Given the description of an element on the screen output the (x, y) to click on. 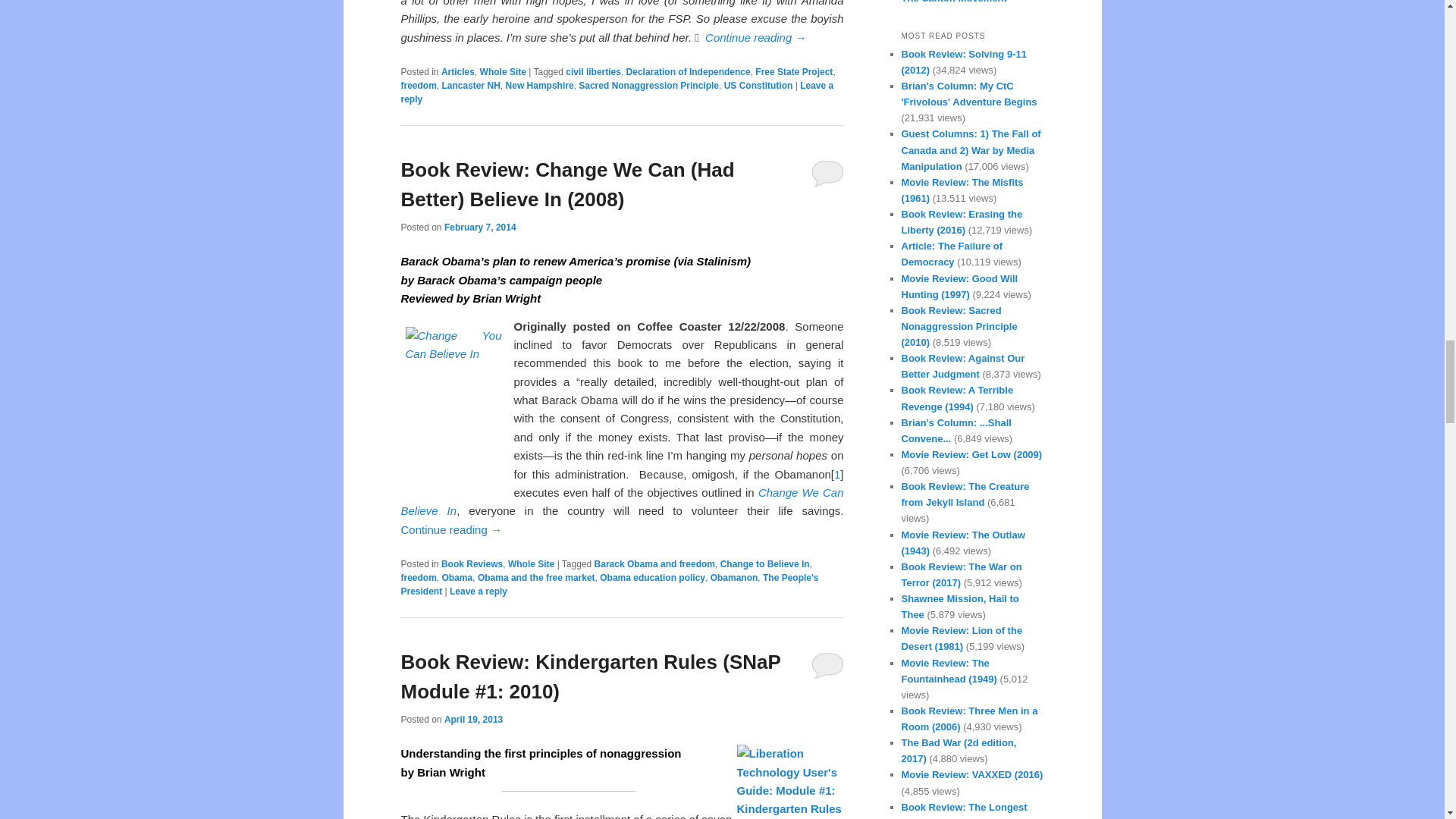
22:37 (473, 719)
16:08 (480, 226)
